Given the description of an element on the screen output the (x, y) to click on. 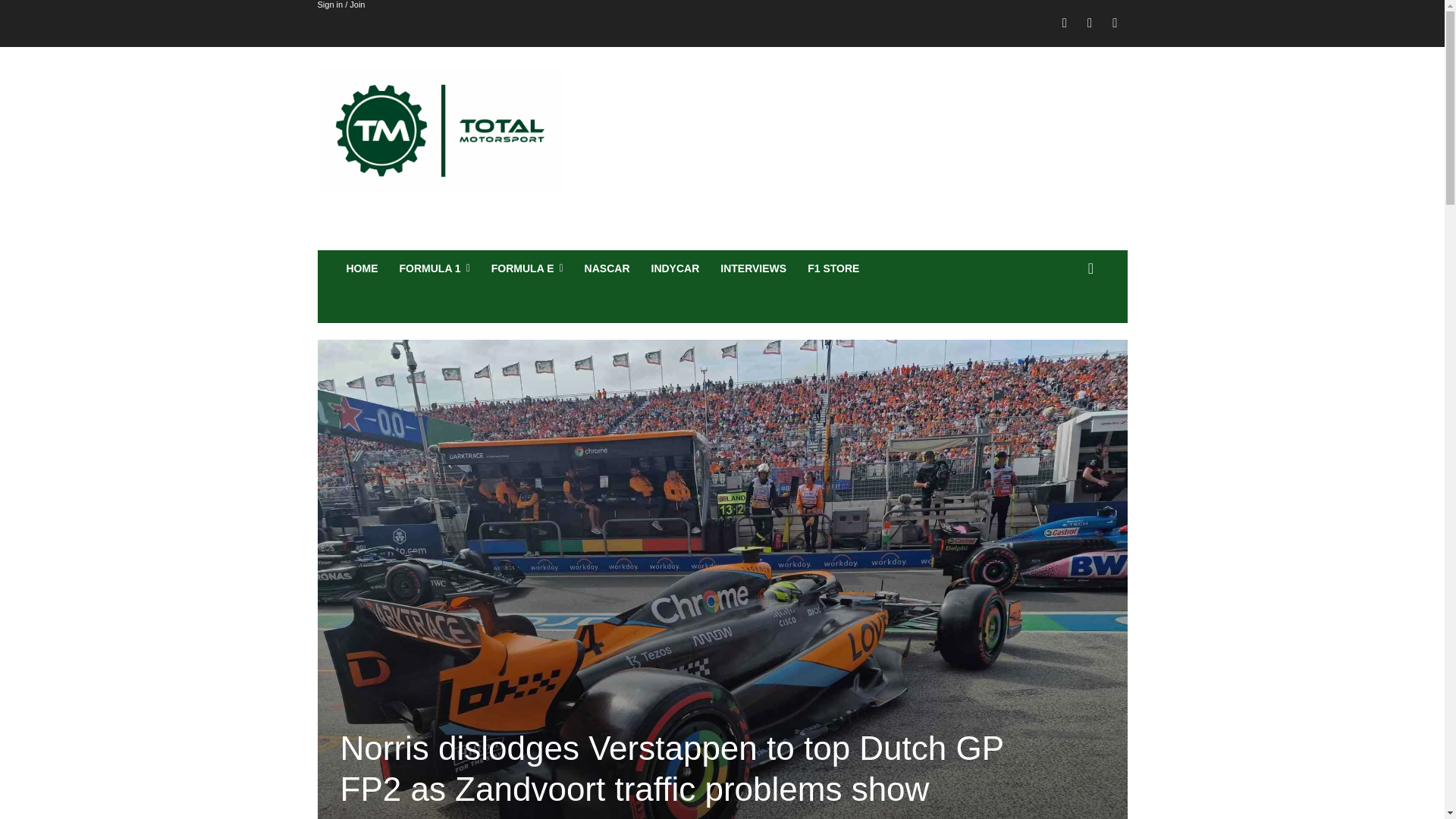
Instagram (1089, 23)
Twitter (1114, 23)
FORMULA E (526, 268)
INTERVIEWS (753, 268)
FORMULA 1 (434, 268)
Facebook (1064, 23)
HOME (361, 268)
NASCAR (606, 268)
F1 STORE (832, 268)
